Given the description of an element on the screen output the (x, y) to click on. 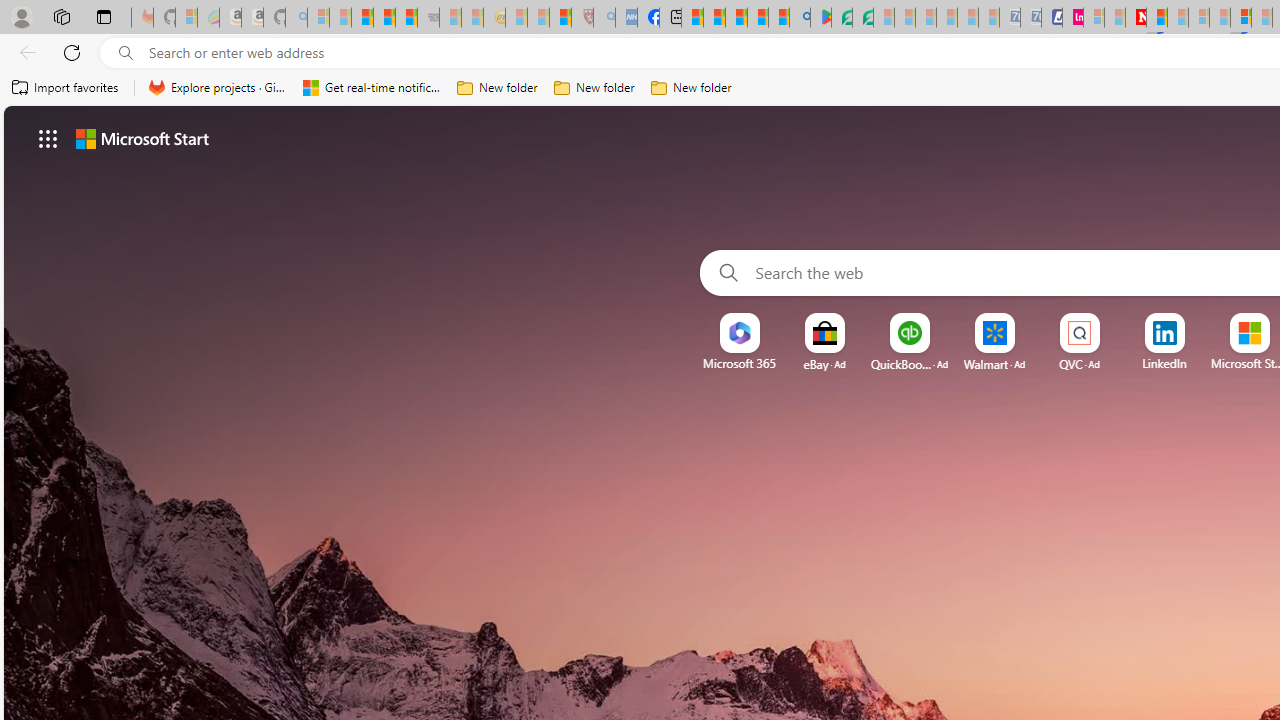
Microsoft Word - consumer-privacy address update 2.2021 (862, 17)
Jobs - lastminute.com Investor Portal (1072, 17)
New folder (691, 88)
Offline games - Android Apps on Google Play (820, 17)
